Given the description of an element on the screen output the (x, y) to click on. 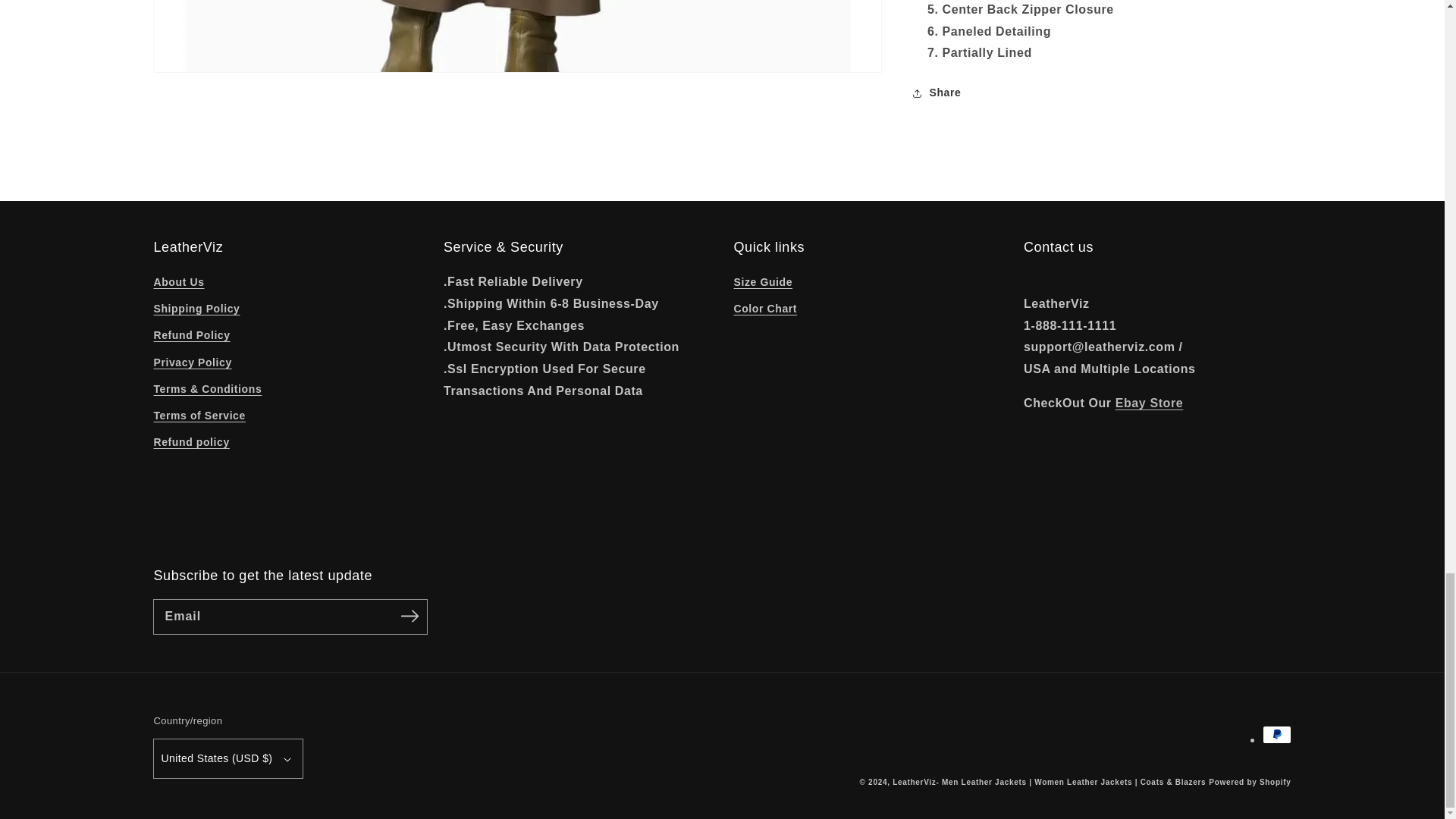
LeatherViz eBay Stores  (1149, 402)
PayPal (1276, 734)
